Given the description of an element on the screen output the (x, y) to click on. 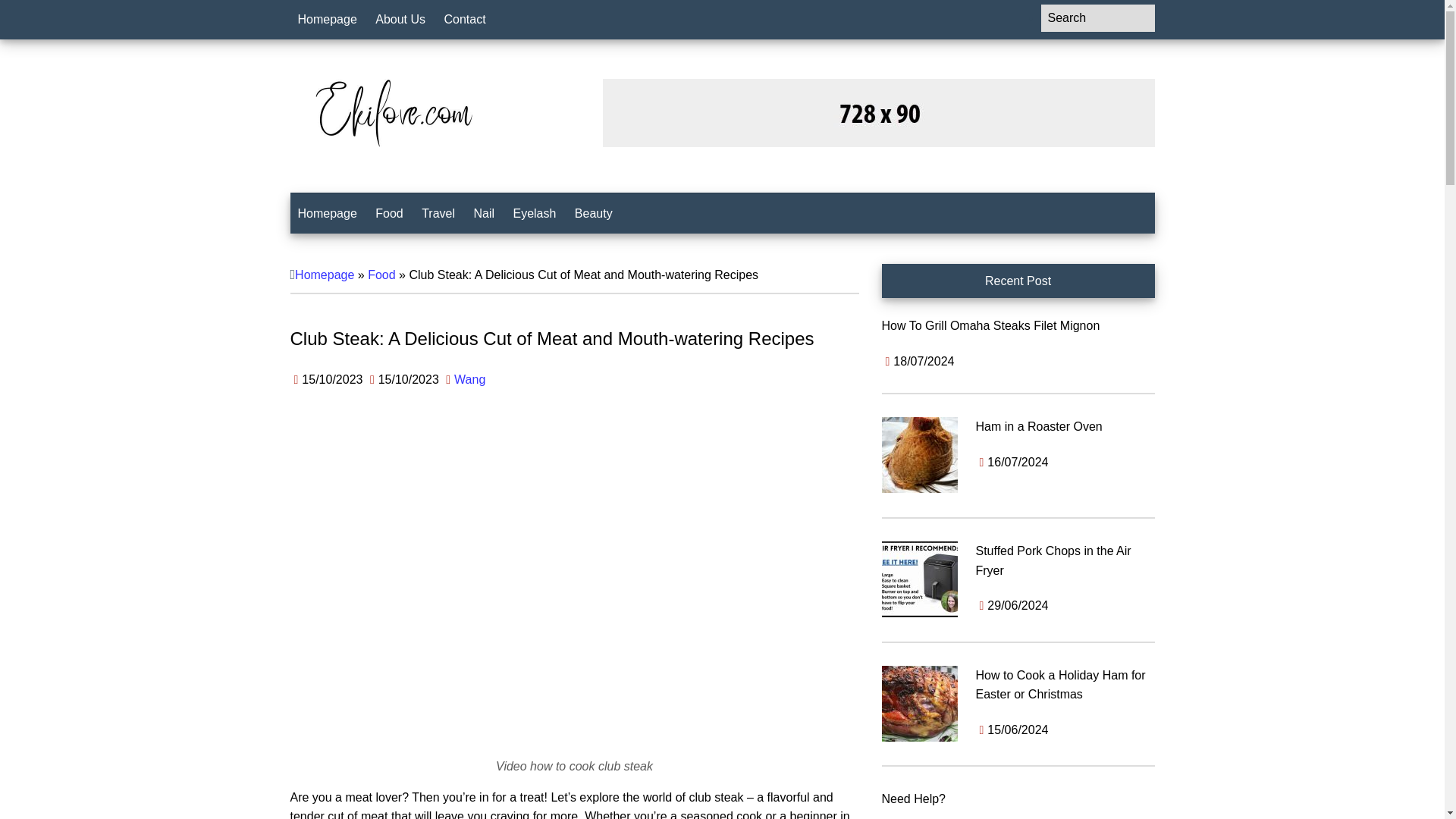
Stuffed Pork Chops in the Air Fryer (1053, 560)
Homepage (326, 213)
Ham in a Roaster Oven (1038, 426)
Travel (438, 213)
Food (389, 213)
About Us (400, 19)
Eyelash (534, 213)
How To Grill Omaha Steaks Filet Mignon (989, 325)
Nail (483, 213)
Contact (464, 19)
Wang (469, 379)
Homepage (326, 19)
Food (381, 274)
Ekilove (392, 112)
